Given the description of an element on the screen output the (x, y) to click on. 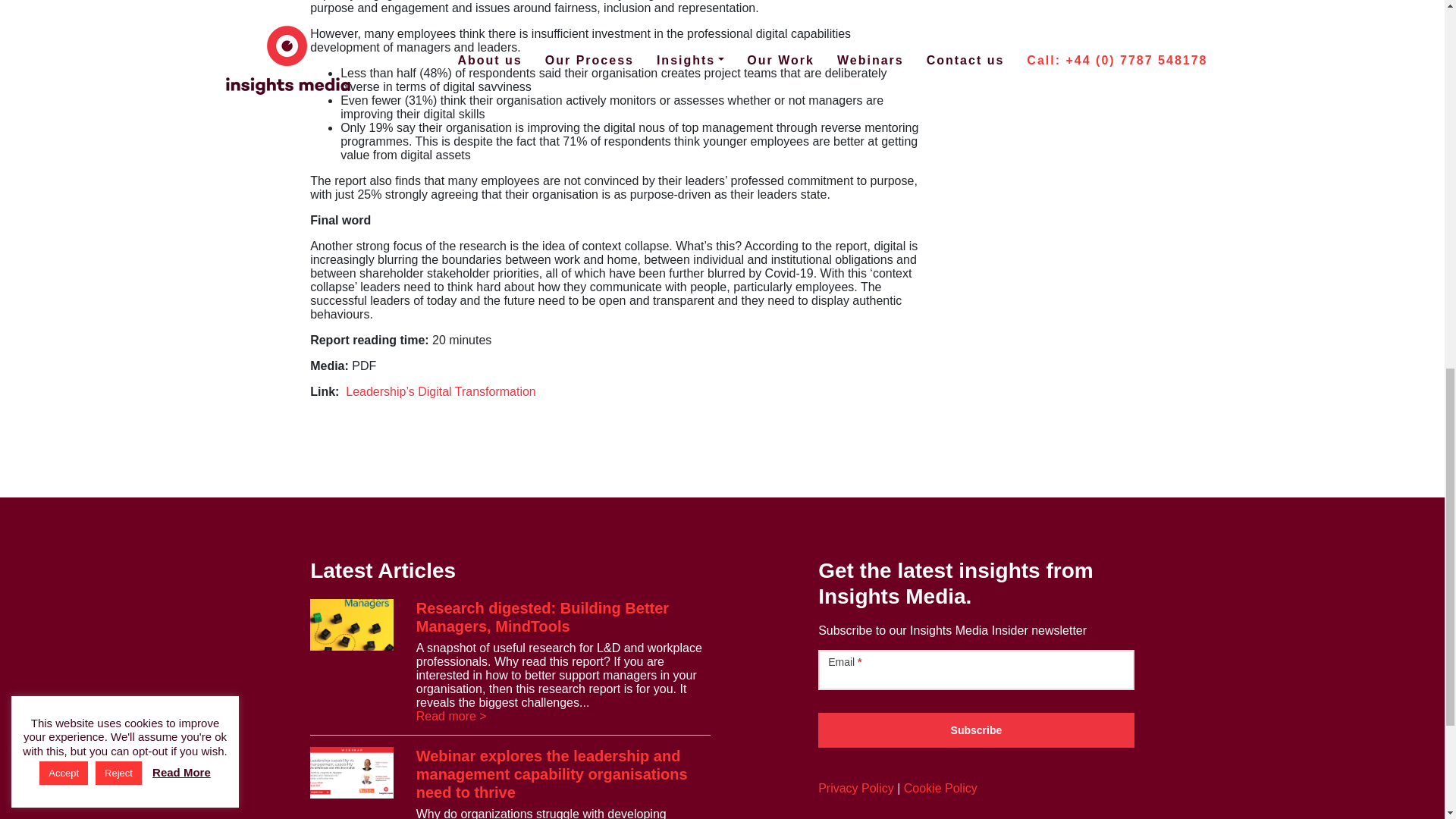
Research digested: Building Better Managers, MindTools (542, 616)
Subscribe (976, 729)
Cookie Policy (940, 788)
Privacy Policy (855, 788)
